Given the description of an element on the screen output the (x, y) to click on. 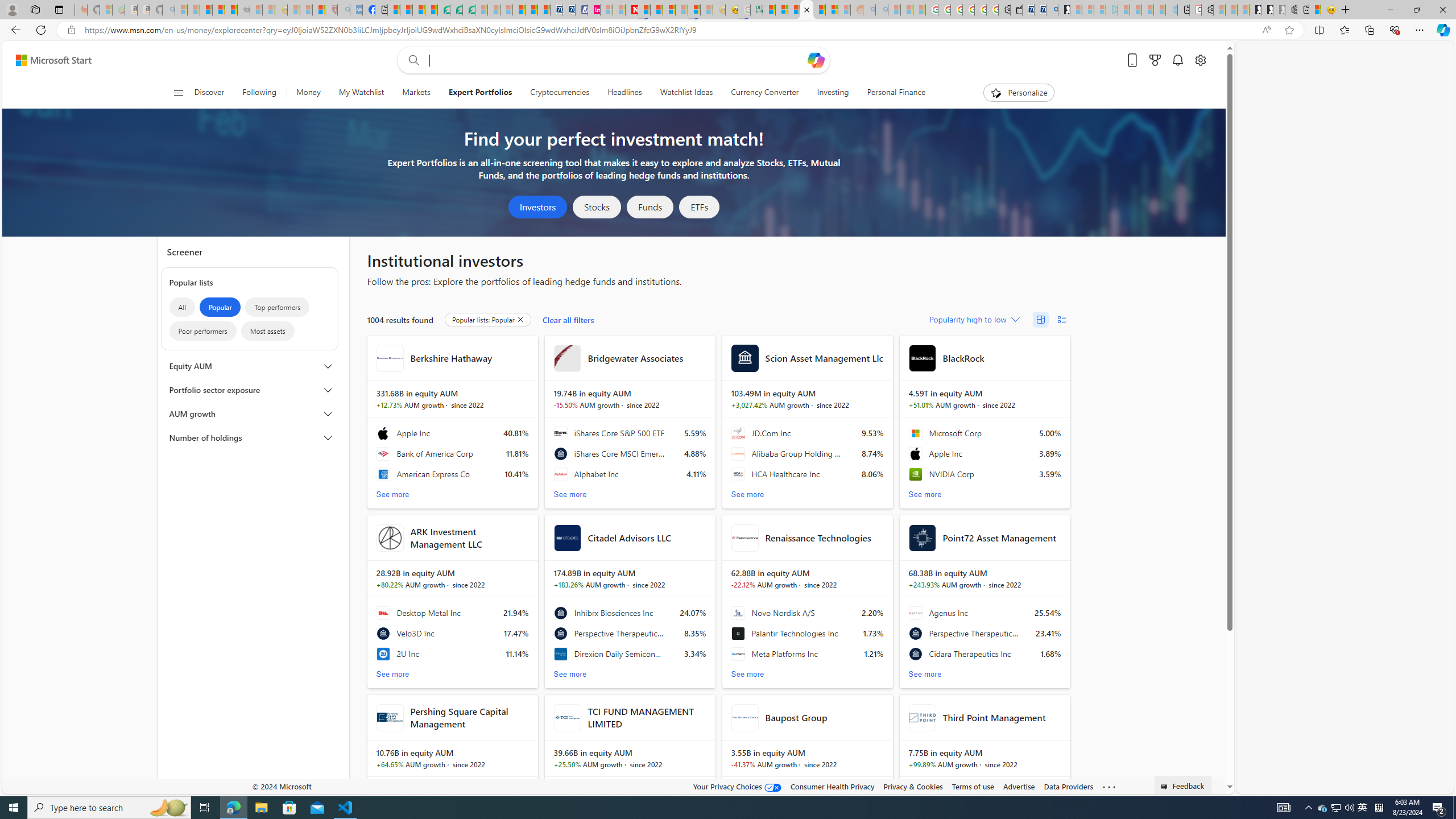
Expert Portfolios (480, 92)
Popular (220, 306)
All (181, 306)
Funds (650, 206)
